Given the description of an element on the screen output the (x, y) to click on. 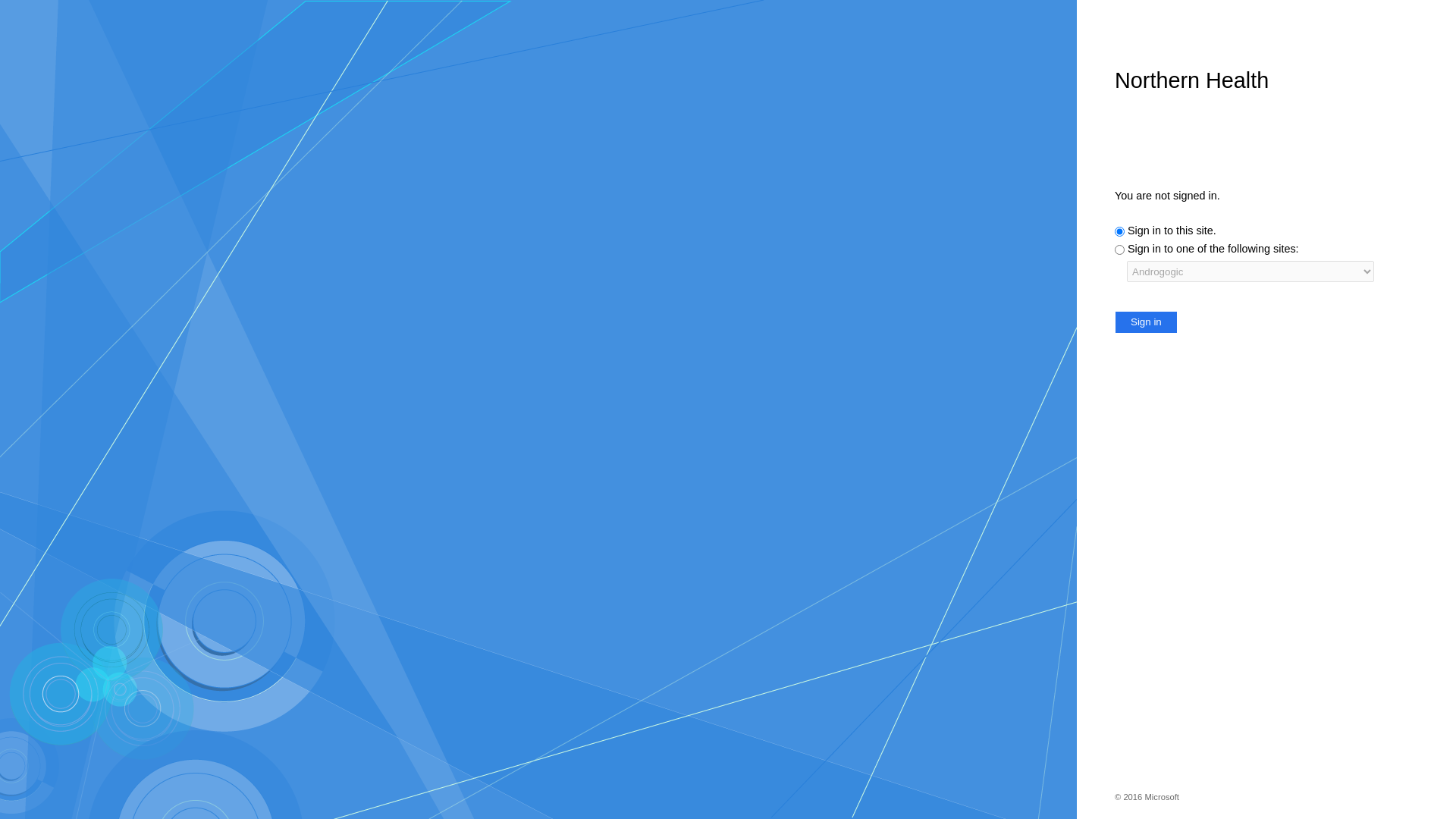
Sign in Element type: text (1145, 321)
SignInOtherSite Element type: text (1119, 249)
SignInIdpSite Element type: text (1119, 231)
